Given the description of an element on the screen output the (x, y) to click on. 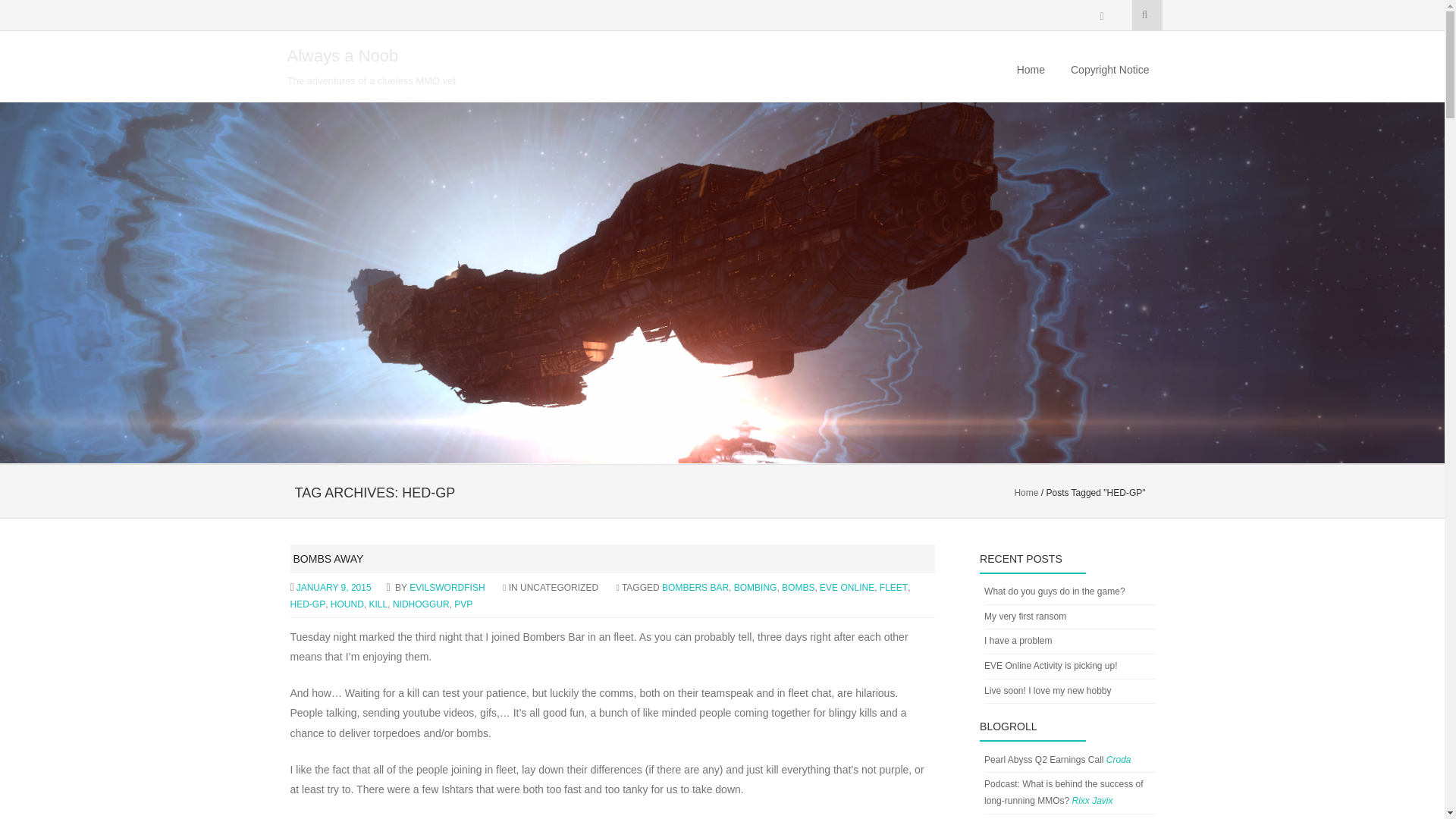
NIDHOGGUR (421, 604)
KILL (378, 604)
Podcast: What is behind the success of long-running MMOs? (1063, 791)
I have a problem (1017, 640)
HED-GP (306, 604)
EVILSWORDFISH (446, 587)
Always a Noob (341, 55)
EVE ONLINE (847, 587)
HOUND (347, 604)
FLEET (893, 587)
